Given the description of an element on the screen output the (x, y) to click on. 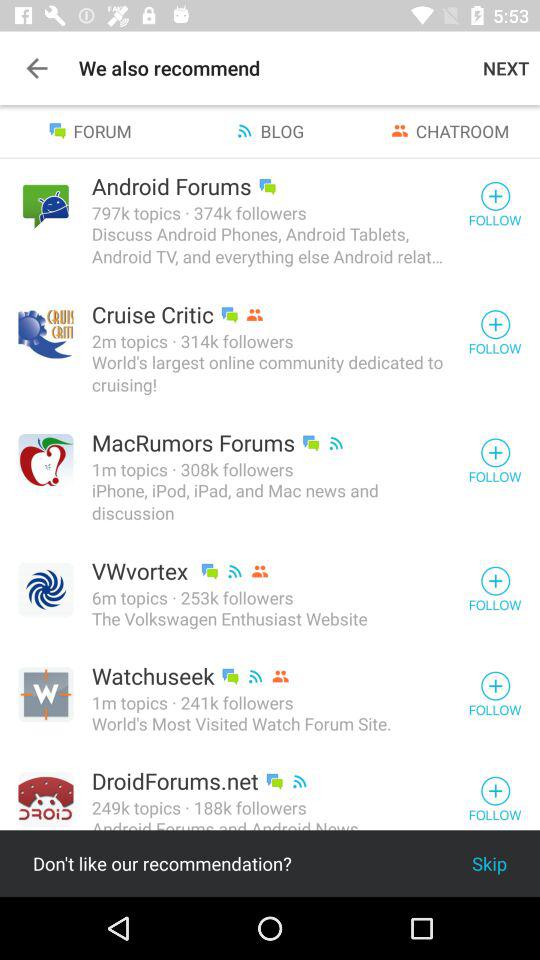
turn off the next item (506, 68)
